Given the description of an element on the screen output the (x, y) to click on. 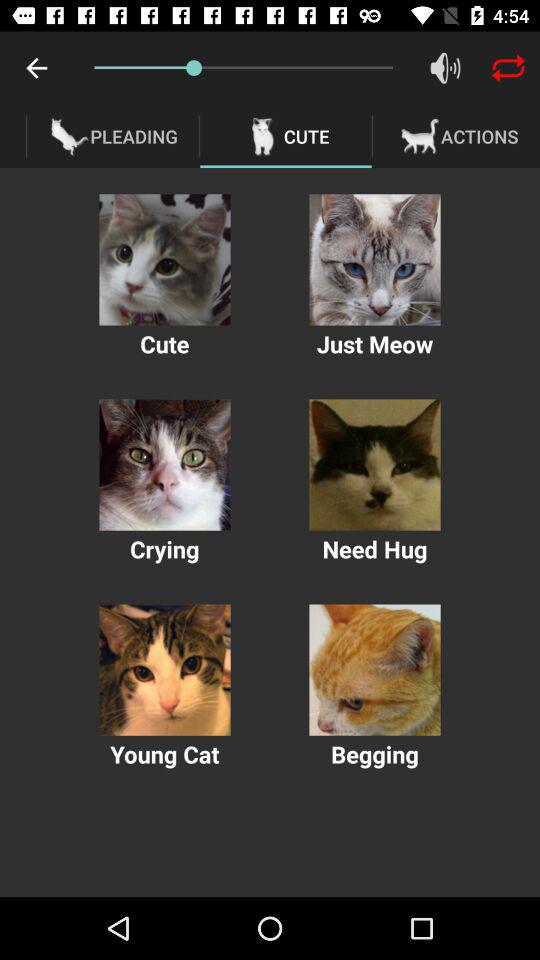
turn off item above the actions icon (444, 67)
